Given the description of an element on the screen output the (x, y) to click on. 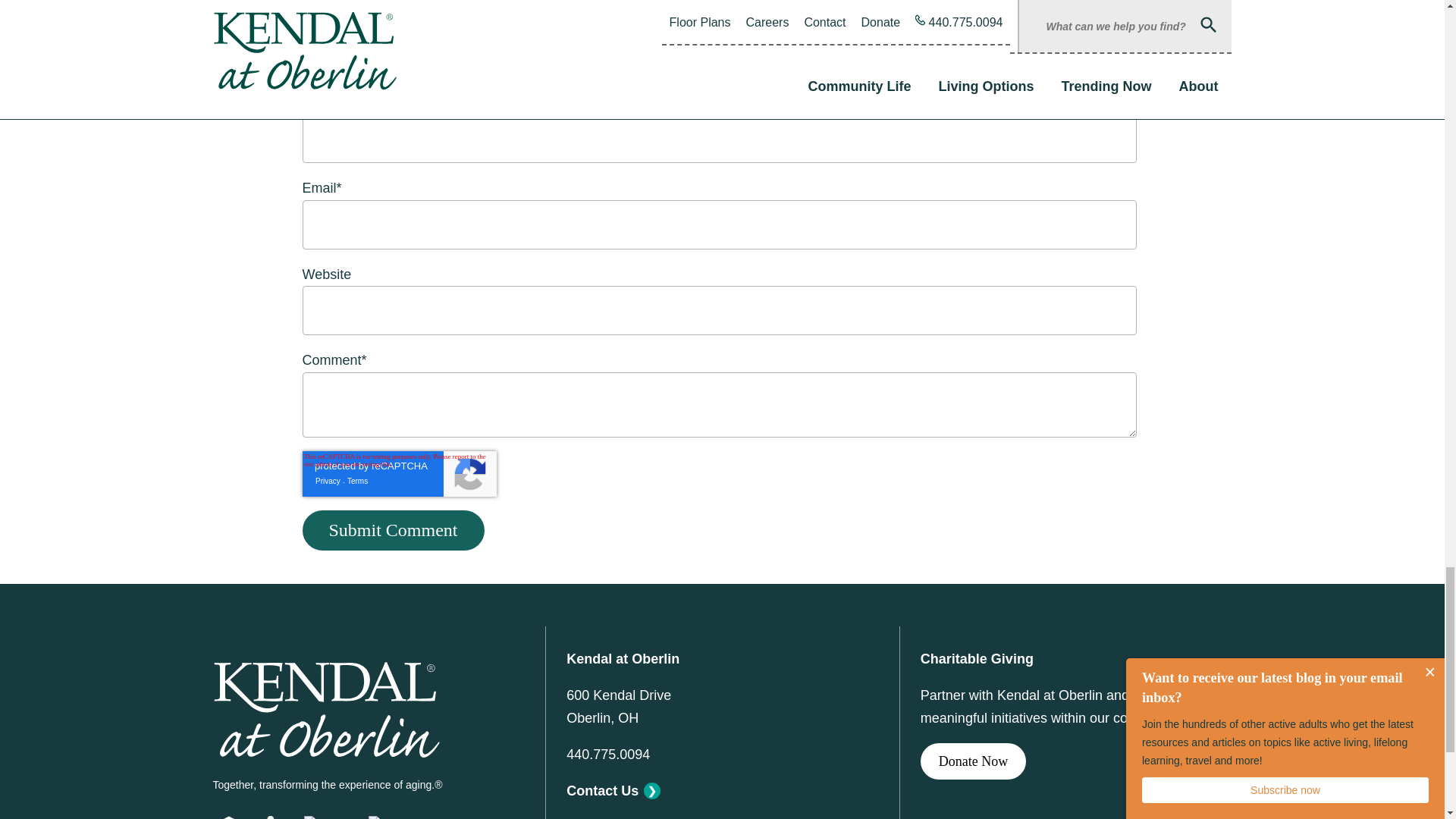
CARF (327, 817)
Handicap Accessible (274, 817)
Equal Housing Opportunity (228, 817)
reCAPTCHA (398, 473)
Leading Age Member (439, 817)
Submit Comment (392, 530)
